Given the description of an element on the screen output the (x, y) to click on. 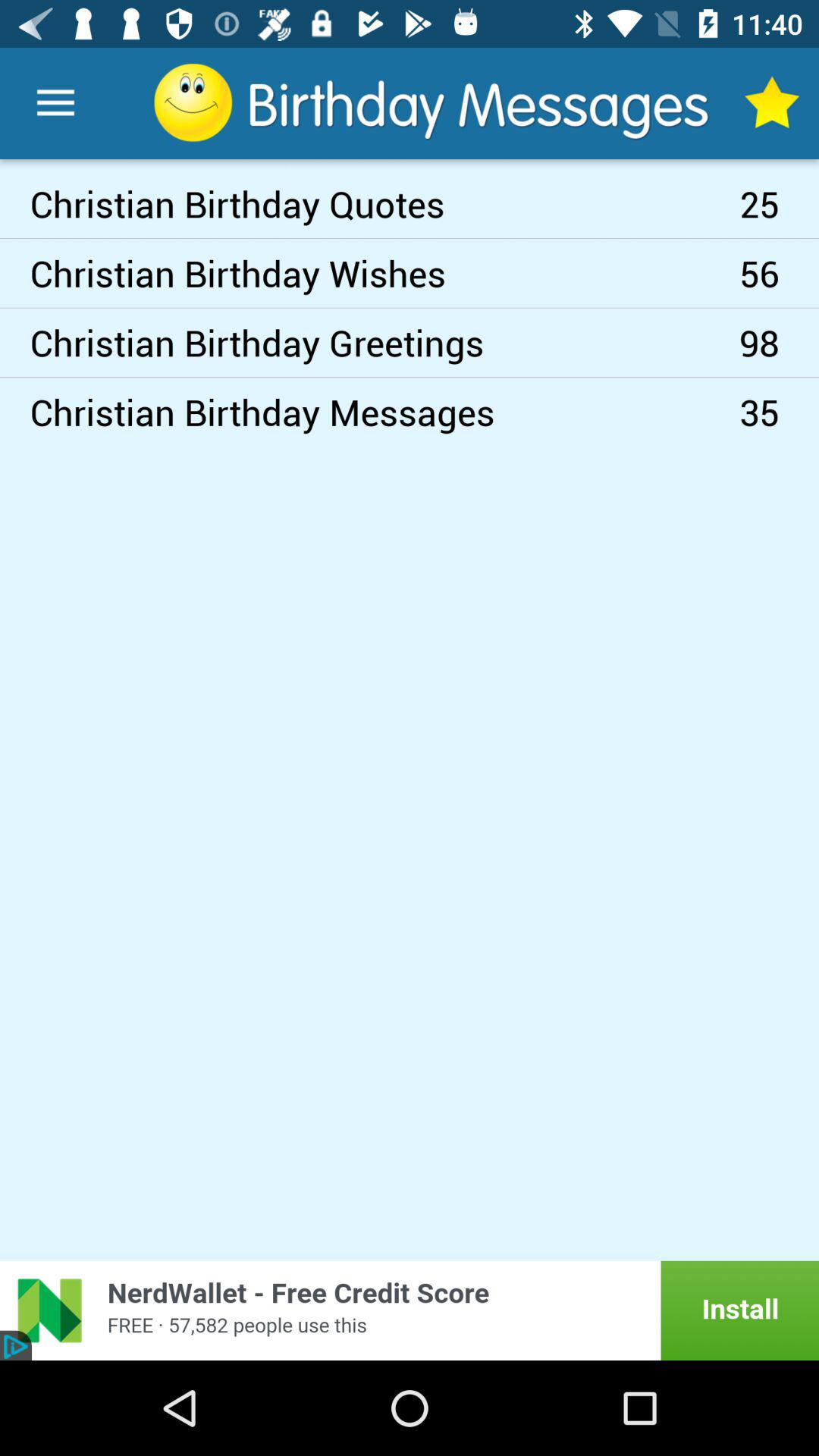
turn off icon below christian birthday messages icon (409, 1310)
